Given the description of an element on the screen output the (x, y) to click on. 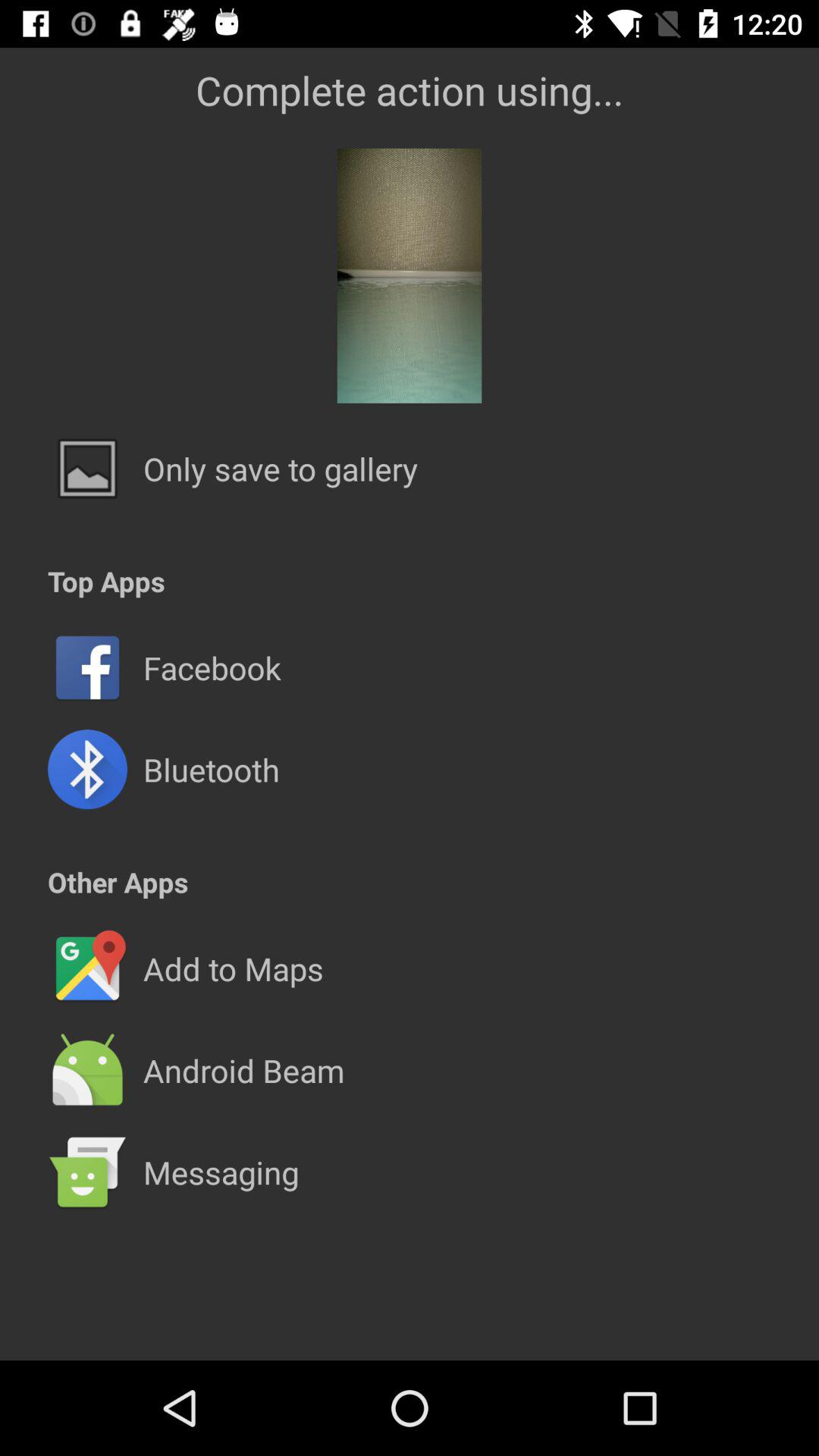
scroll until top apps icon (105, 581)
